Given the description of an element on the screen output the (x, y) to click on. 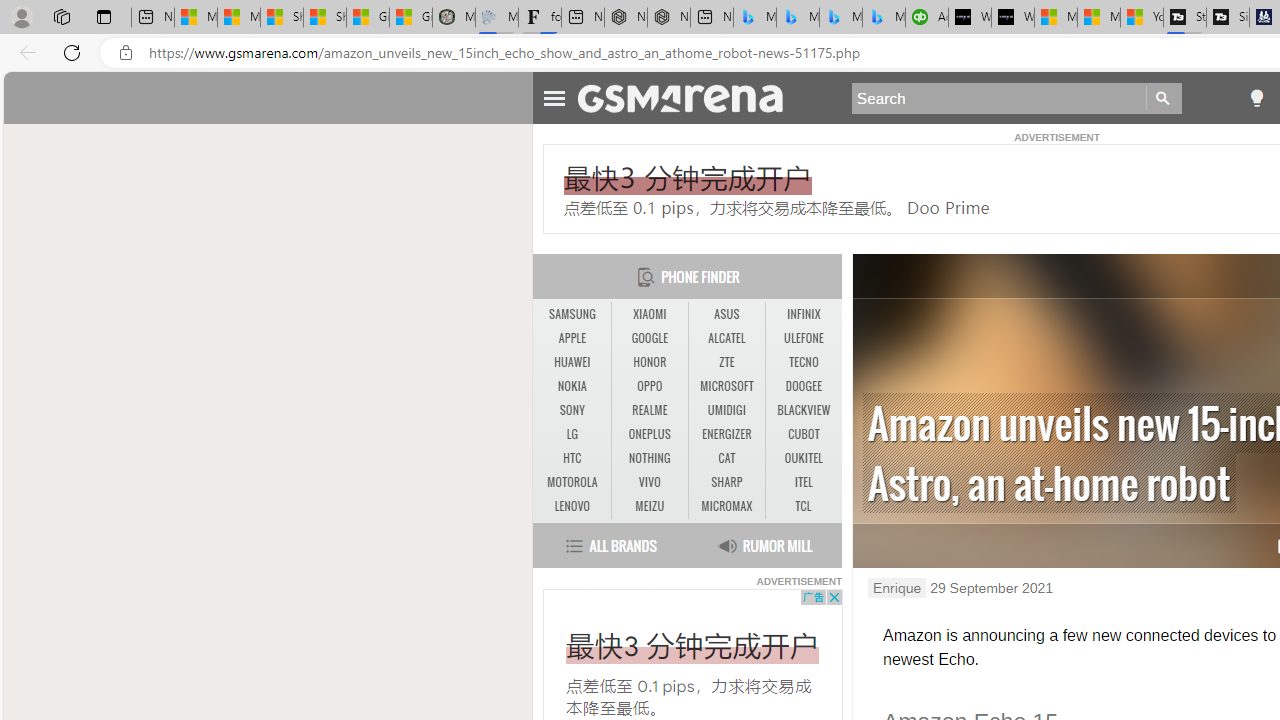
CAT (726, 457)
LG (571, 434)
TCL (802, 506)
APPLE (571, 338)
BLACKVIEW (803, 410)
ALCATEL (726, 339)
INFINIX (803, 313)
UMIDIGI (726, 411)
REALME (649, 411)
LENOVO (571, 506)
NOKIA (571, 385)
SHARP (726, 482)
